Given the description of an element on the screen output the (x, y) to click on. 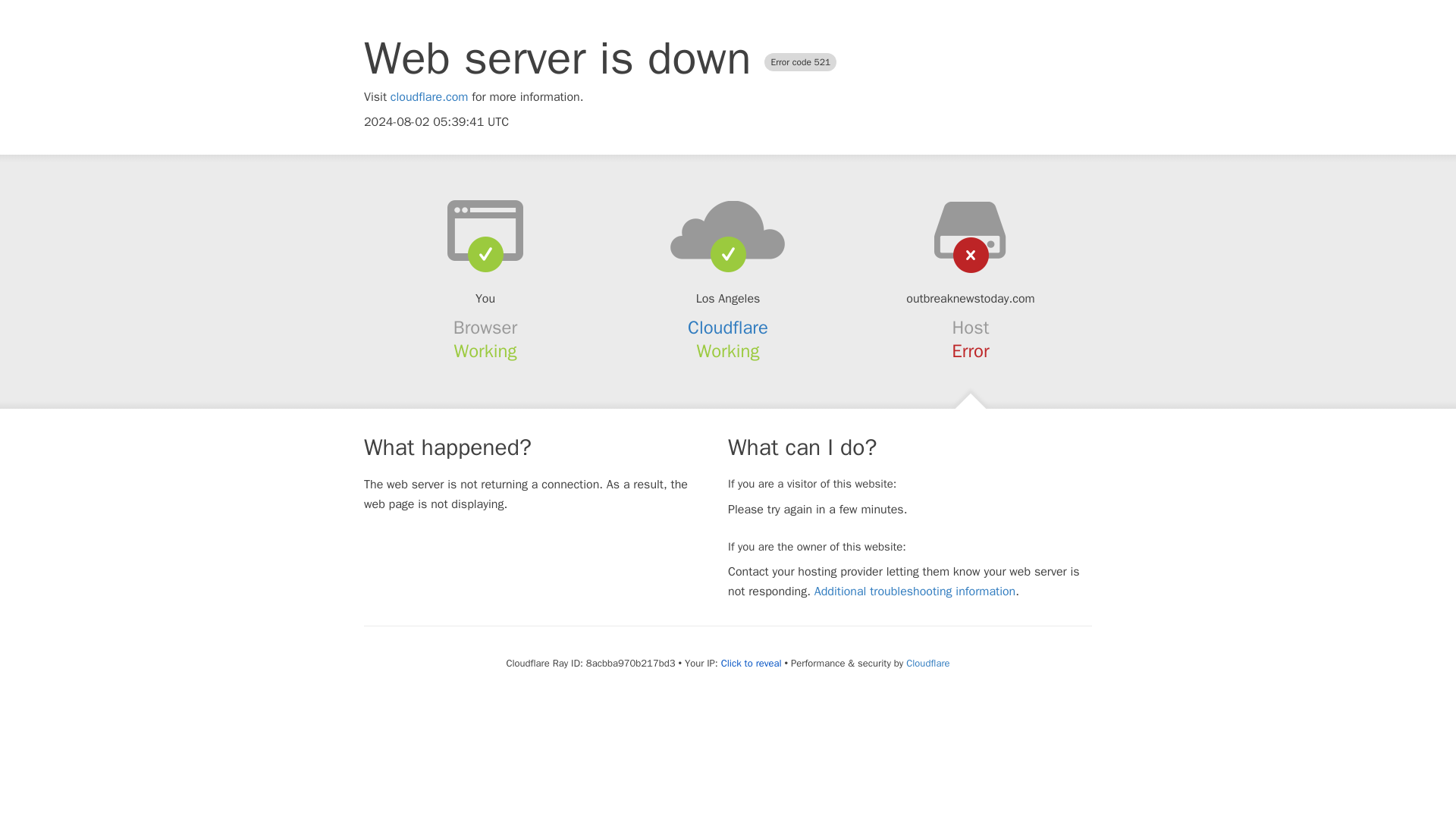
Additional troubleshooting information (913, 590)
Cloudflare (727, 327)
cloudflare.com (429, 96)
Click to reveal (750, 663)
Cloudflare (927, 662)
